Given the description of an element on the screen output the (x, y) to click on. 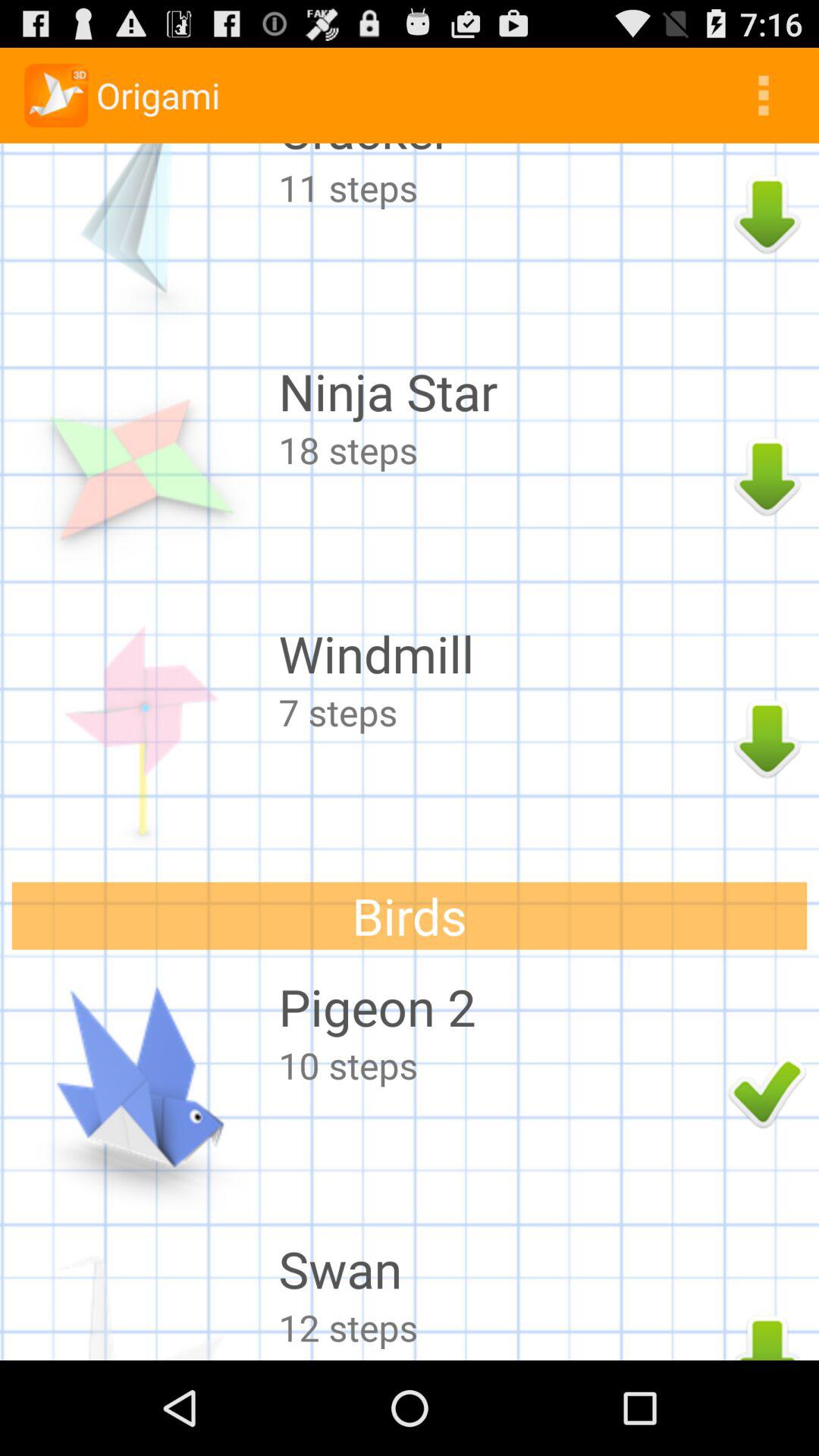
turn on item above the 11 steps app (498, 153)
